Given the description of an element on the screen output the (x, y) to click on. 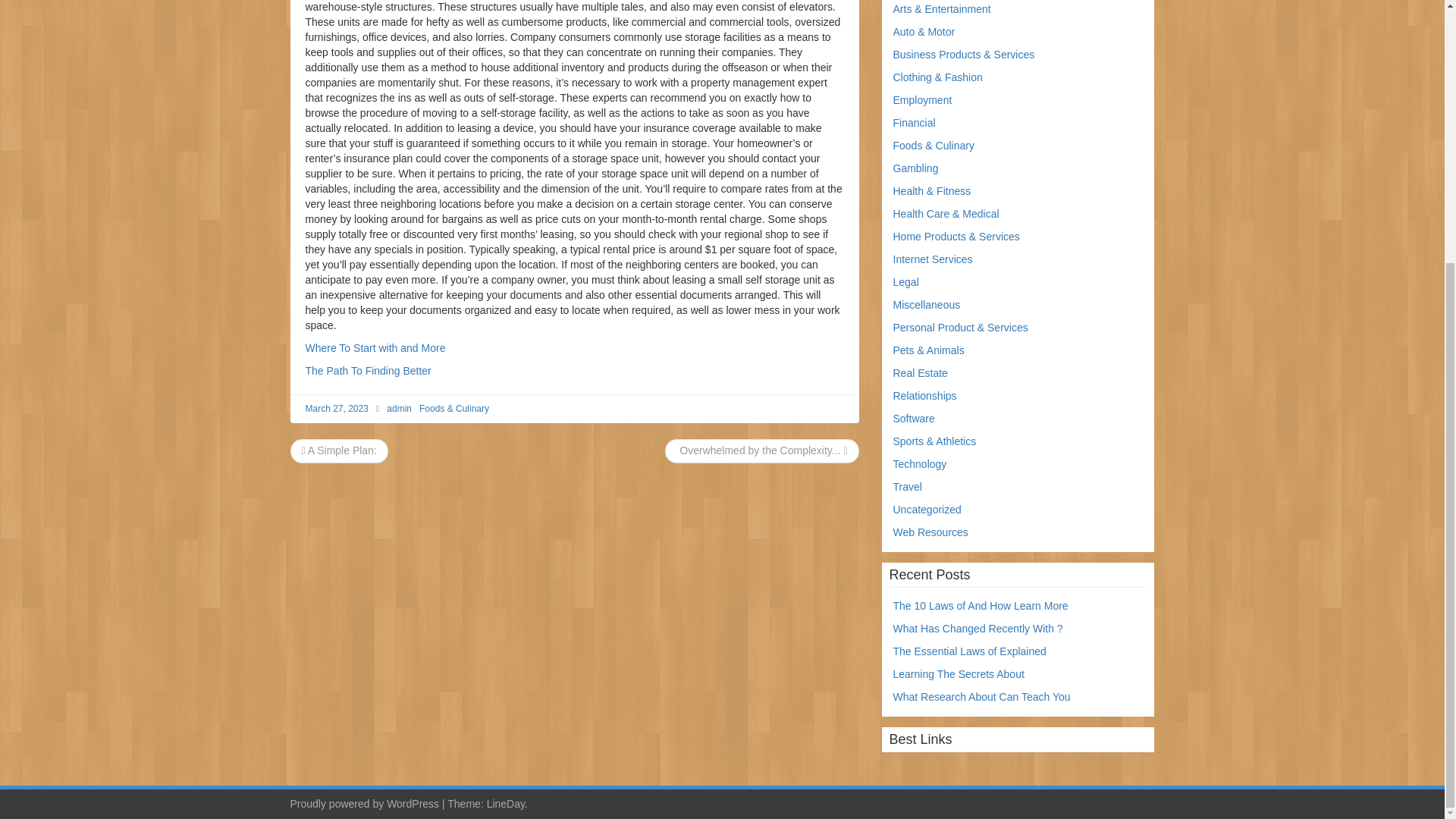
Employment (922, 100)
Relationships (924, 395)
Gambling (916, 168)
Technology (920, 463)
The 10 Laws of And How Learn More (980, 605)
What Has Changed Recently With ? (977, 628)
admin (399, 408)
Uncategorized (926, 509)
Miscellaneous (926, 304)
Software (913, 418)
